Given the description of an element on the screen output the (x, y) to click on. 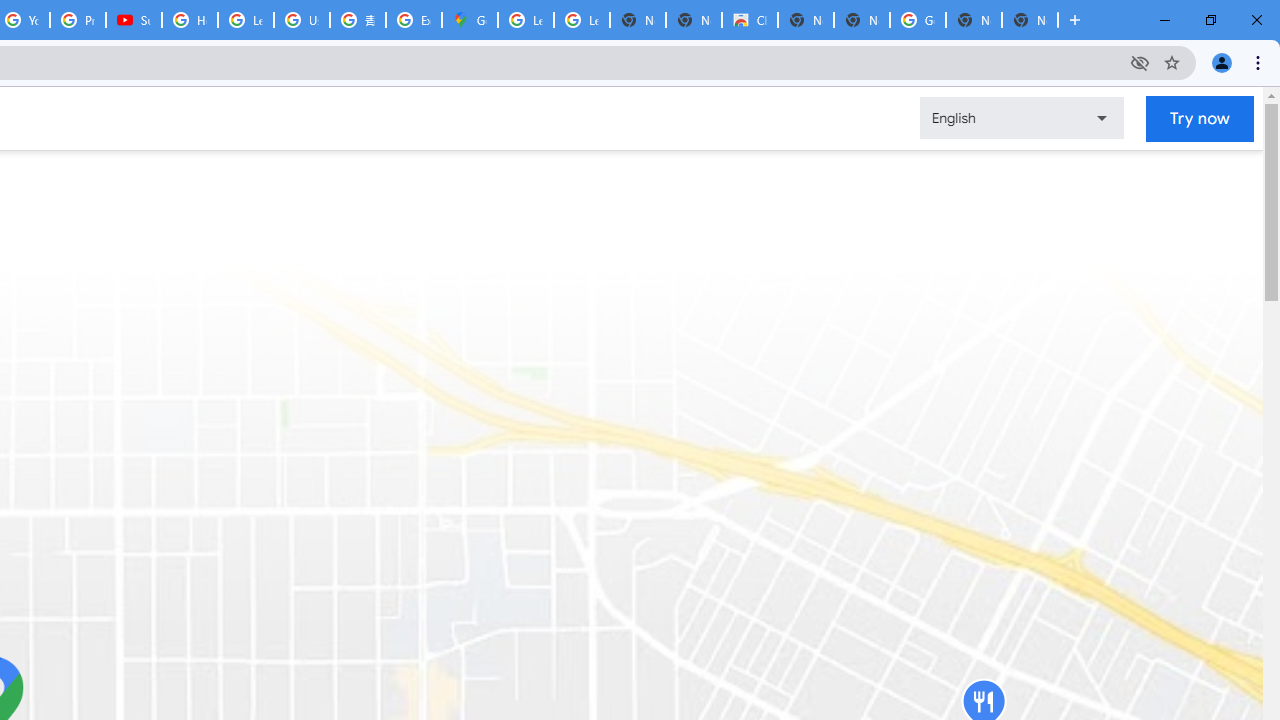
Google Images (917, 20)
New Tab (1030, 20)
How Chrome protects your passwords - Google Chrome Help (189, 20)
Subscriptions - YouTube (134, 20)
Chrome Web Store (749, 20)
Try now (1199, 118)
